Given the description of an element on the screen output the (x, y) to click on. 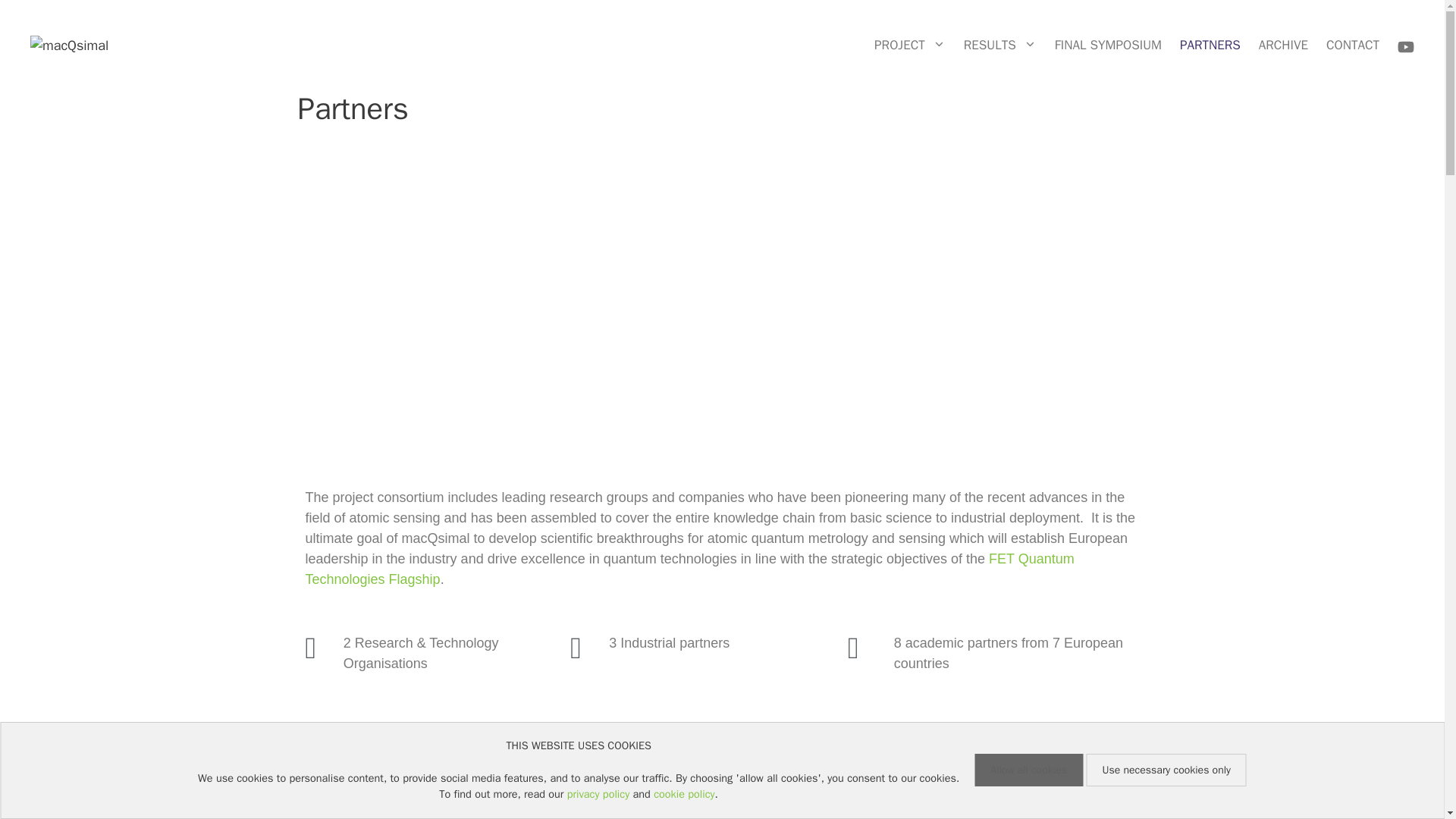
Allow all cookies (1028, 769)
ARCHIVE (1283, 45)
CONTACT (1353, 45)
privacy policy (597, 793)
RESULTS (1000, 45)
PARTNERS (1209, 45)
FINAL SYMPOSIUM (1107, 45)
PROJECT (909, 45)
cookie policy (683, 793)
Use necessary cookies only (1166, 769)
